Given the description of an element on the screen output the (x, y) to click on. 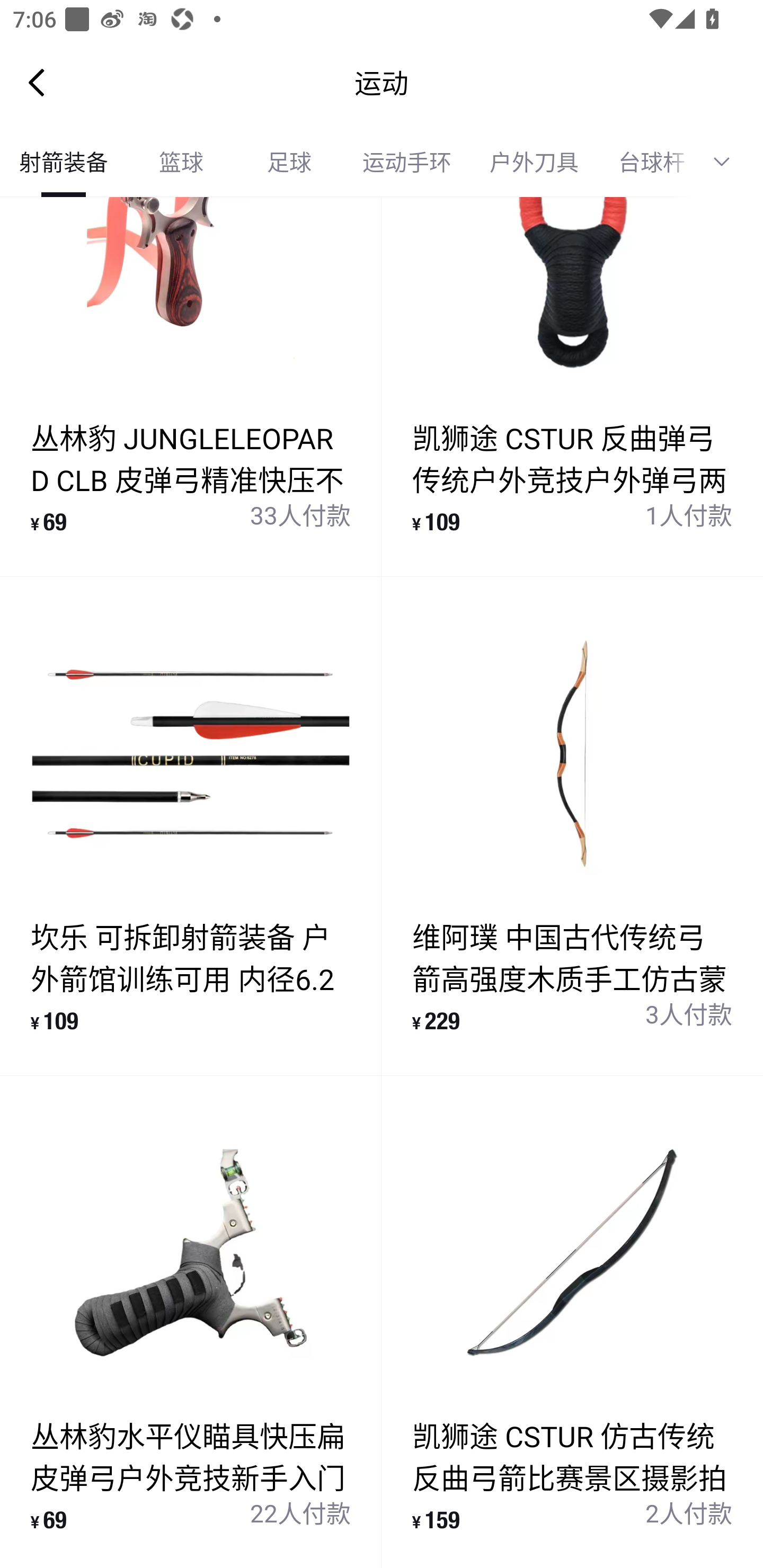
Navigate up (36, 82)
射箭装备 (63, 162)
篮球 (181, 162)
足球 (289, 162)
运动手环 (406, 162)
户外刀具 (533, 162)
台球杆 (644, 162)
 (727, 162)
坎乐 可拆卸射箭装备 户
外箭馆训练可用 内径6.2
混碳箭 ¥ 109 (190, 826)
维阿璞 中国古代传统弓
箭高强度木质手工仿古蒙
古经济景区公园成人娱乐
弓 ¥ 229 3人付款 (572, 826)
丛林豹水平仪瞄具快压扁
皮弹弓户外竞技新手入门
狩猎弓 ¥ 69 22人付款 (190, 1321)
